Given the description of an element on the screen output the (x, y) to click on. 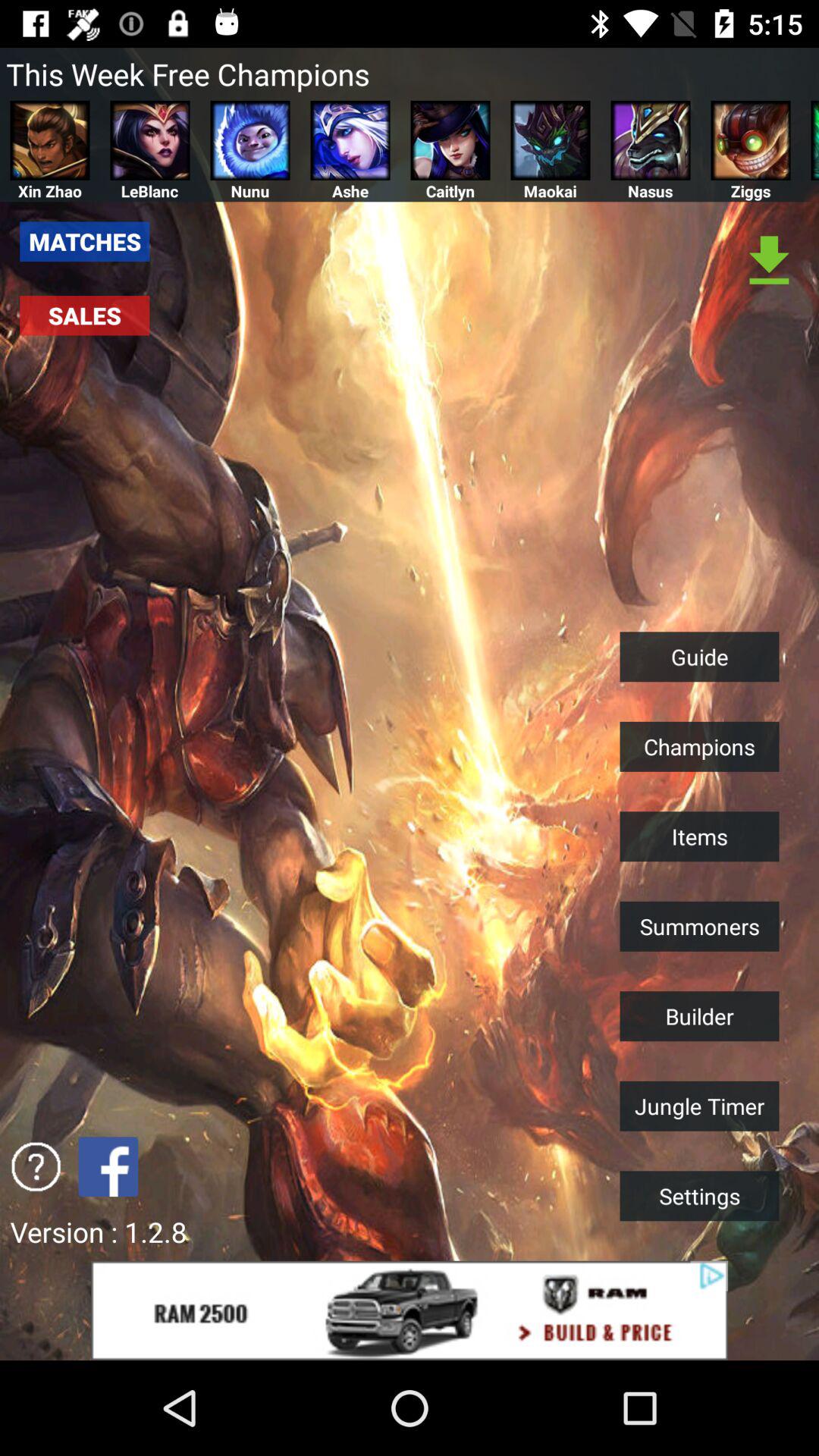
visit facebook (108, 1166)
